Given the description of an element on the screen output the (x, y) to click on. 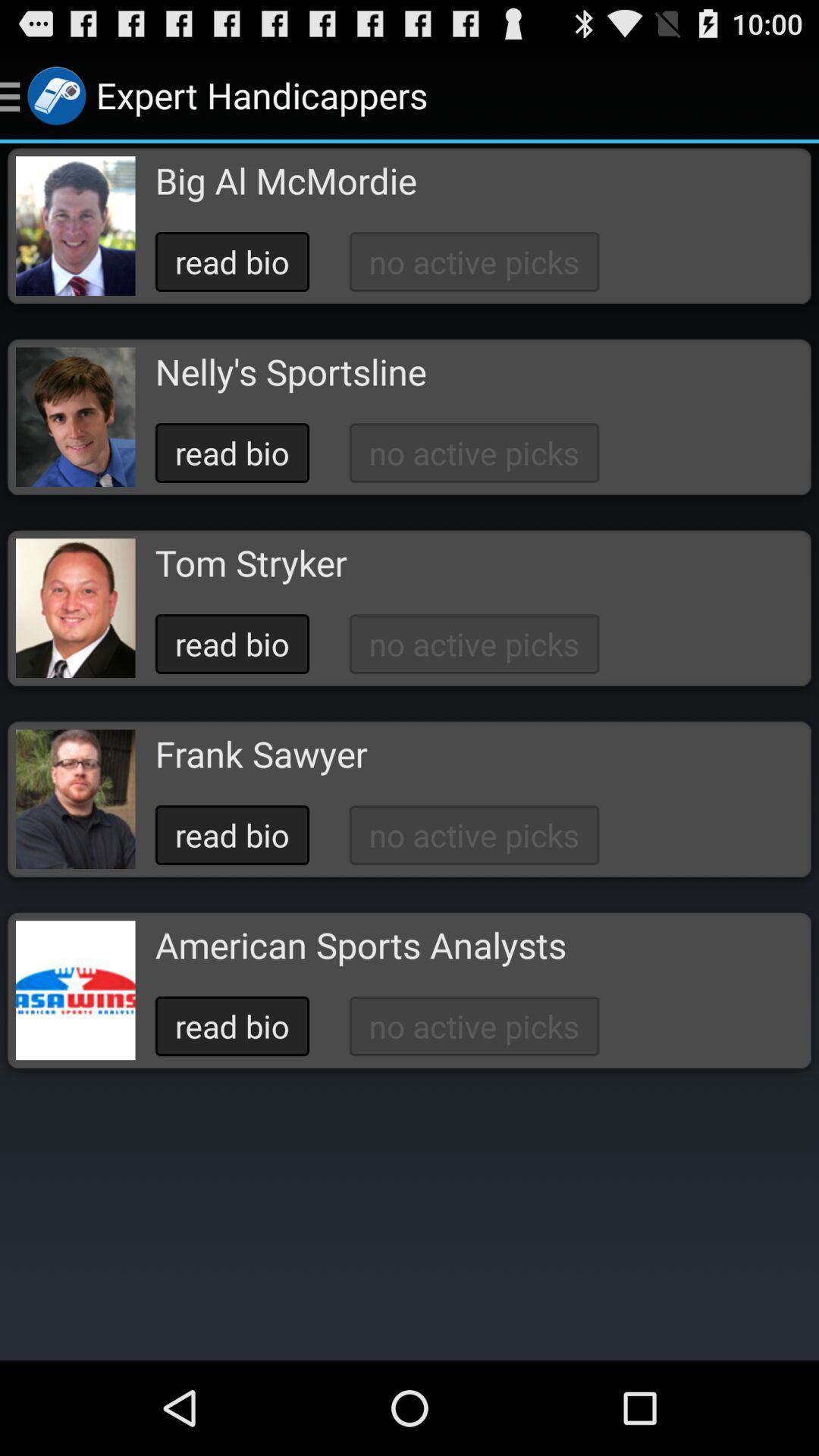
select the icon below expert handicappers icon (285, 180)
